Given the description of an element on the screen output the (x, y) to click on. 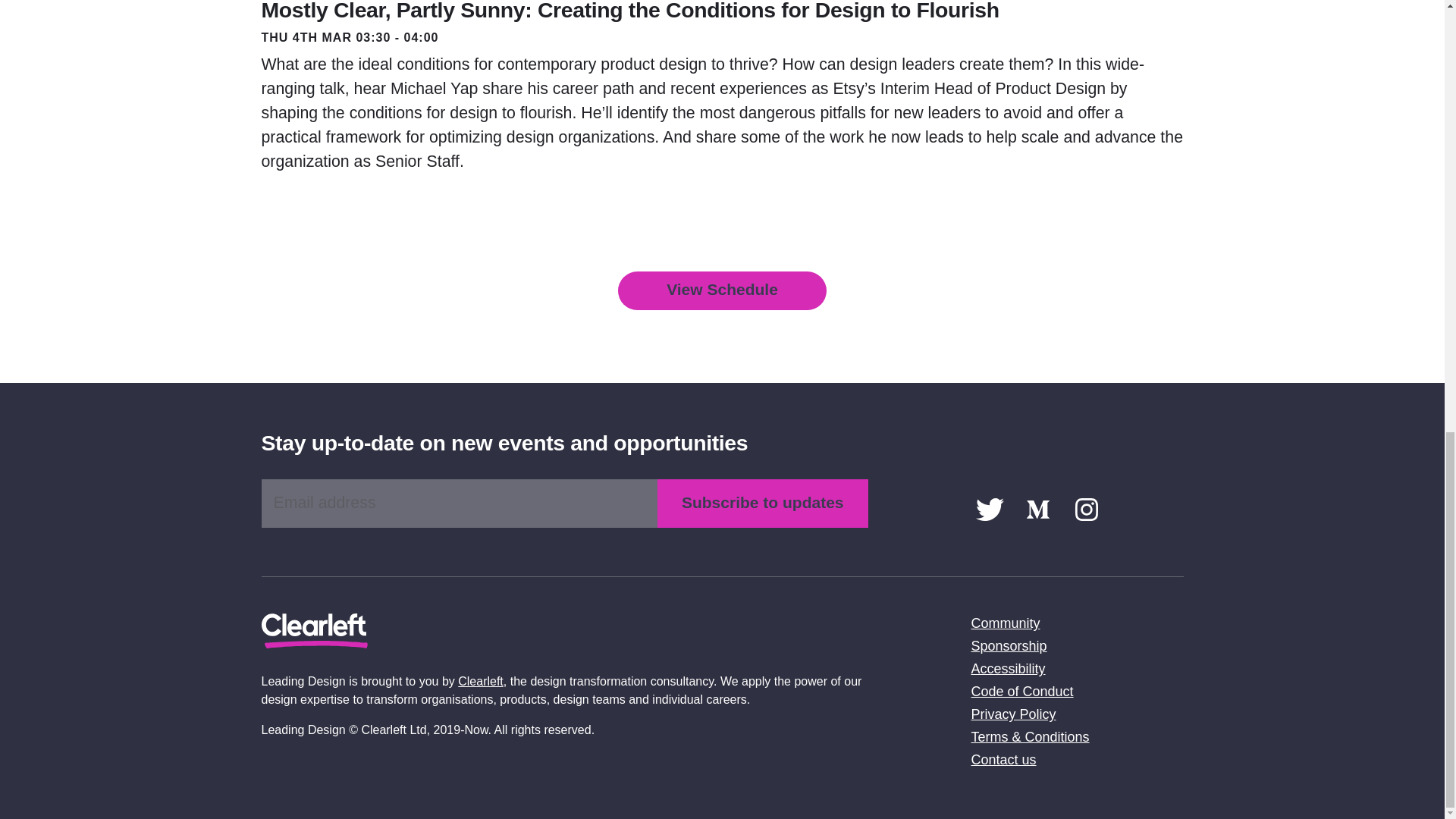
Sponsorship (1008, 645)
Privacy Policy (1013, 713)
View Schedule (722, 291)
Accessibility (1008, 668)
Code of Conduct (1022, 691)
Subscribe to updates (762, 503)
Clearleft (480, 680)
Contact us (1003, 759)
Community (1005, 622)
